Given the description of an element on the screen output the (x, y) to click on. 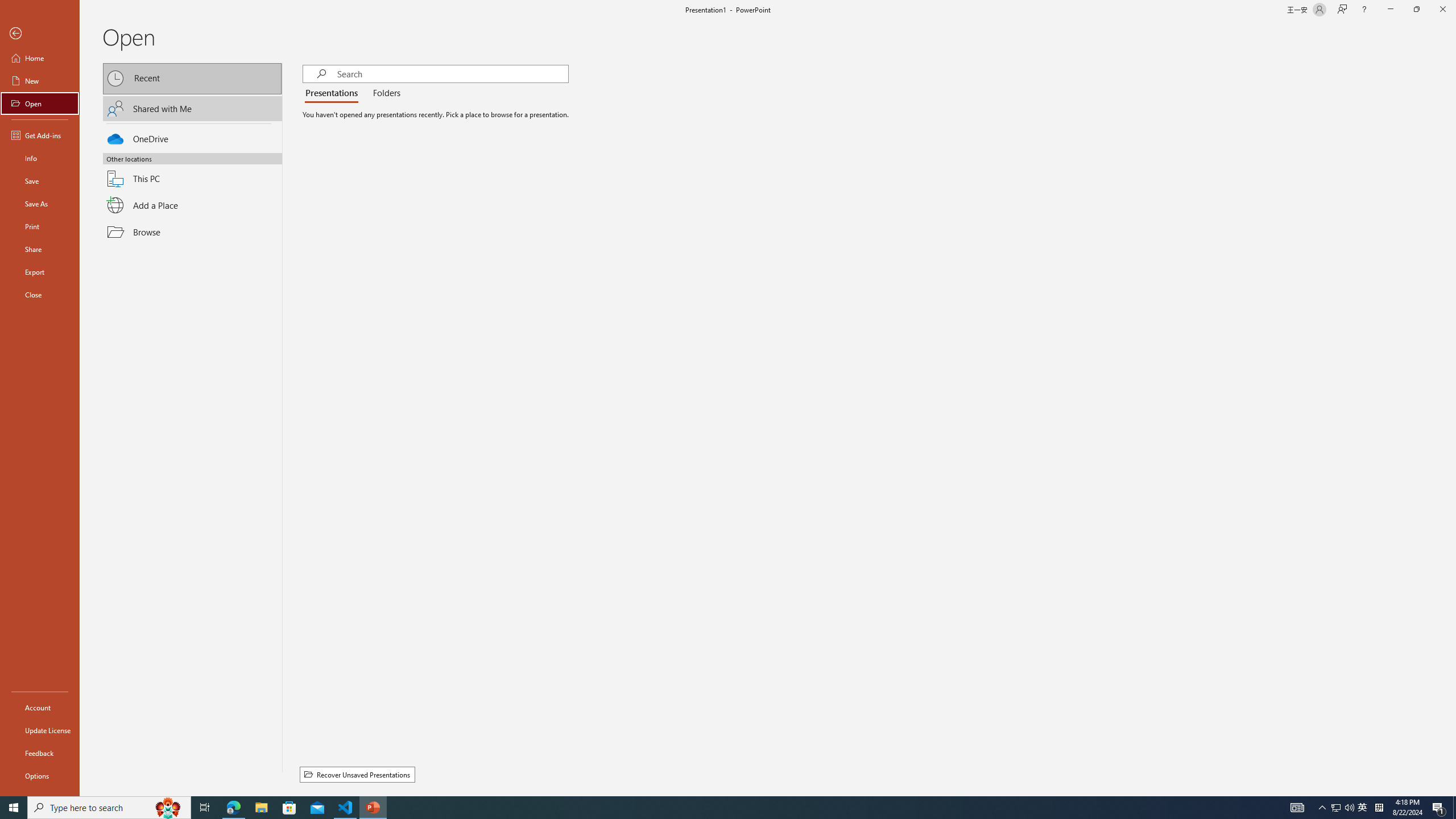
Options (40, 775)
Browse (192, 231)
